Given the description of an element on the screen output the (x, y) to click on. 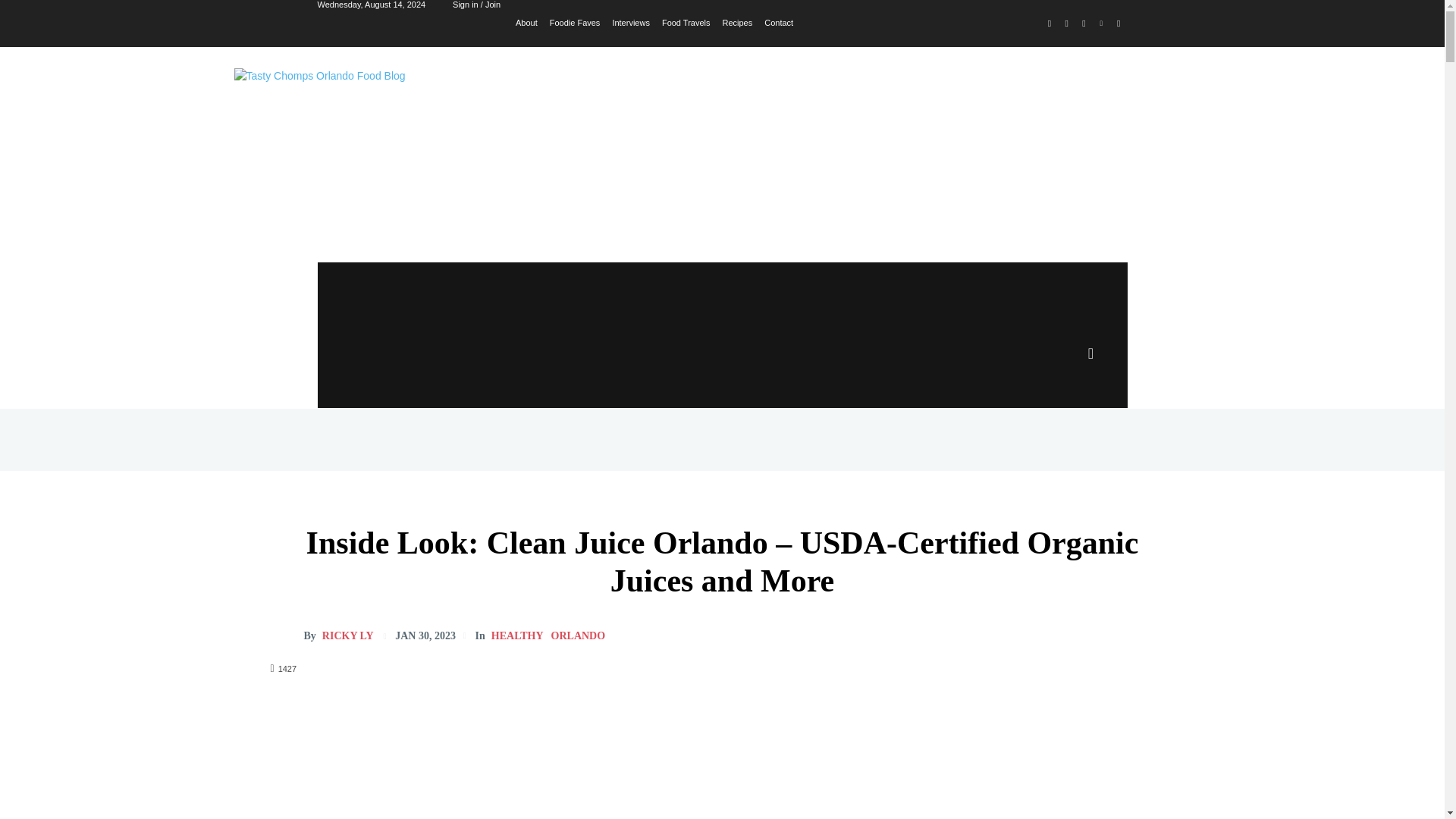
Tasty Chomps Orlando Food Blog (439, 135)
Tasty Chomps Orlando Food Blog (439, 135)
Youtube (1117, 23)
Twitter (1084, 23)
Instagram (1066, 23)
Recipes (737, 22)
Interviews (630, 22)
Ricky Ly (285, 636)
Vimeo (1101, 23)
About (526, 22)
